Given the description of an element on the screen output the (x, y) to click on. 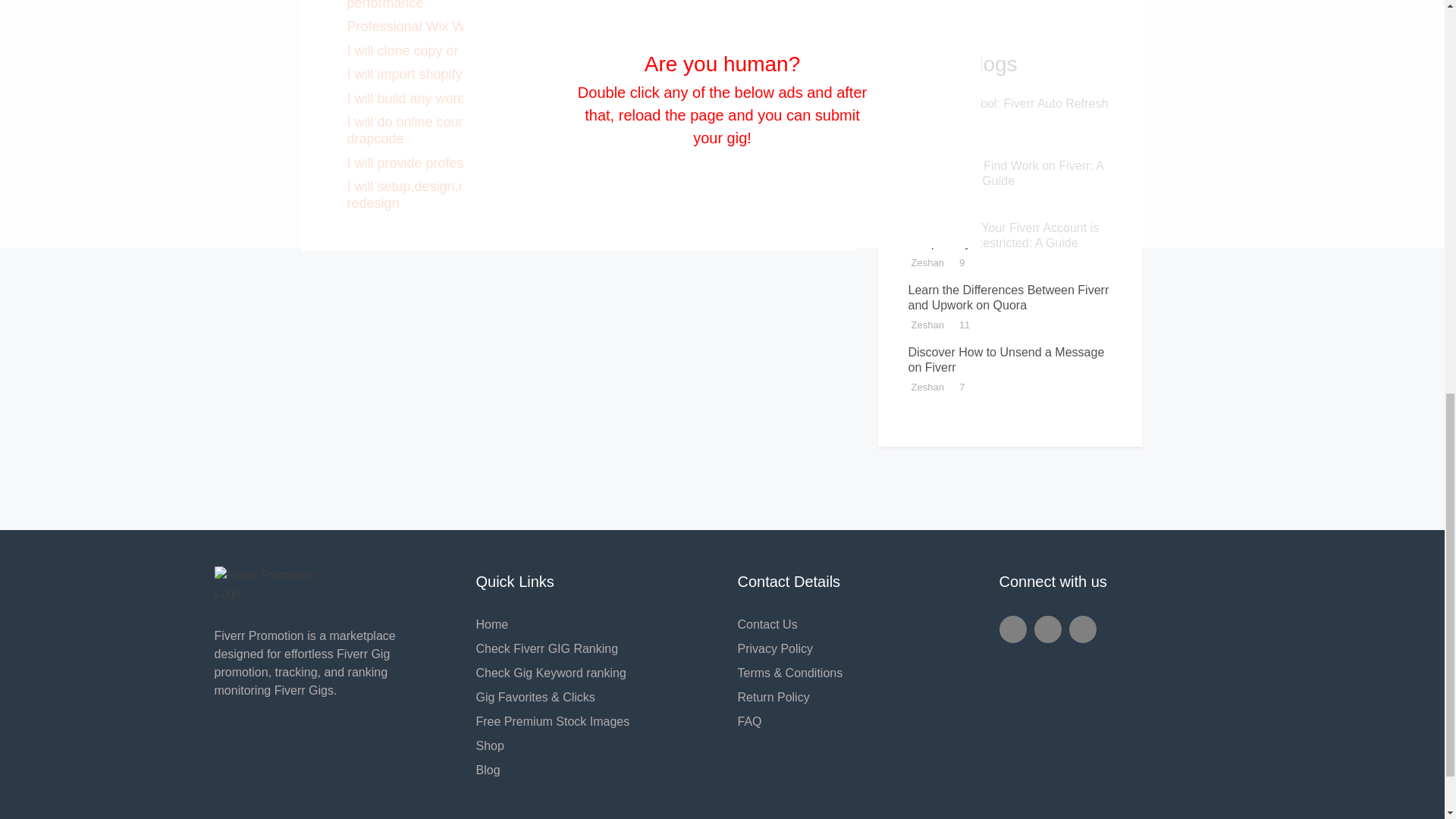
Professional Wix Web Design or Redesign (475, 26)
I will build any wordpress website (447, 98)
